Given the description of an element on the screen output the (x, y) to click on. 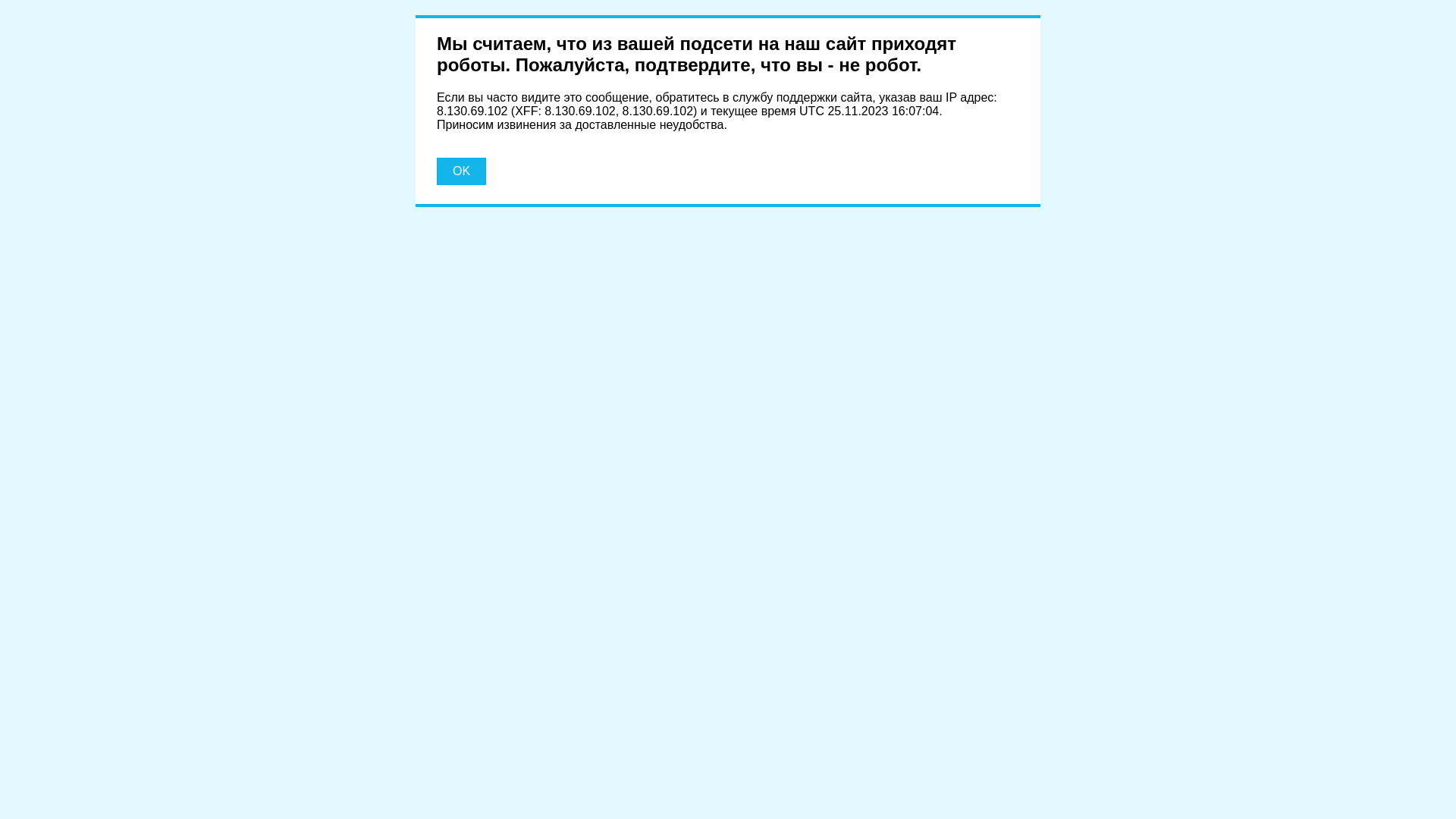
OK Element type: text (461, 171)
